Given the description of an element on the screen output the (x, y) to click on. 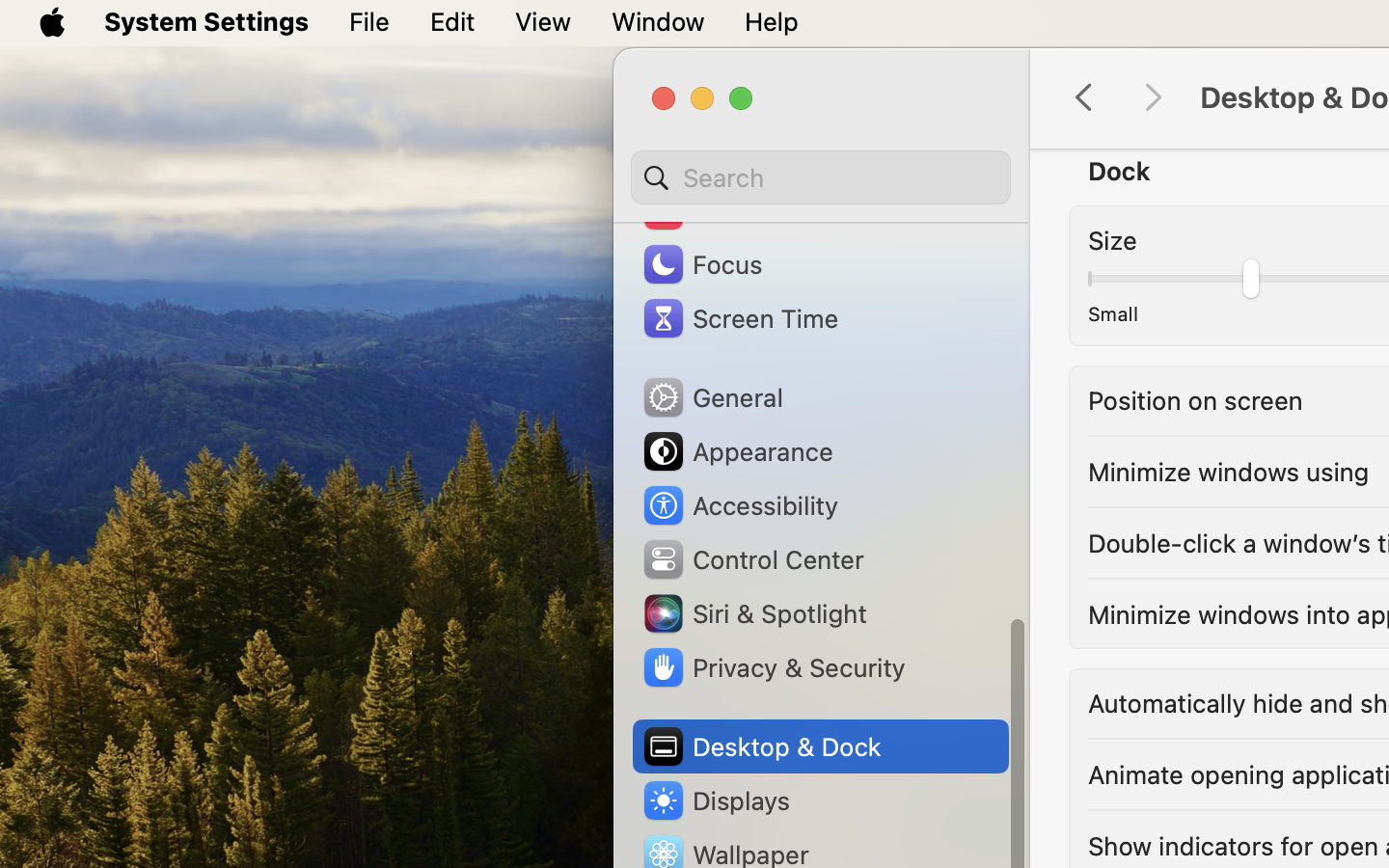
Accessibility Element type: AXStaticText (739, 505)
Appearance Element type: AXStaticText (736, 451)
Siri & Spotlight Element type: AXStaticText (753, 613)
General Element type: AXStaticText (711, 397)
Displays Element type: AXStaticText (715, 800)
